Given the description of an element on the screen output the (x, y) to click on. 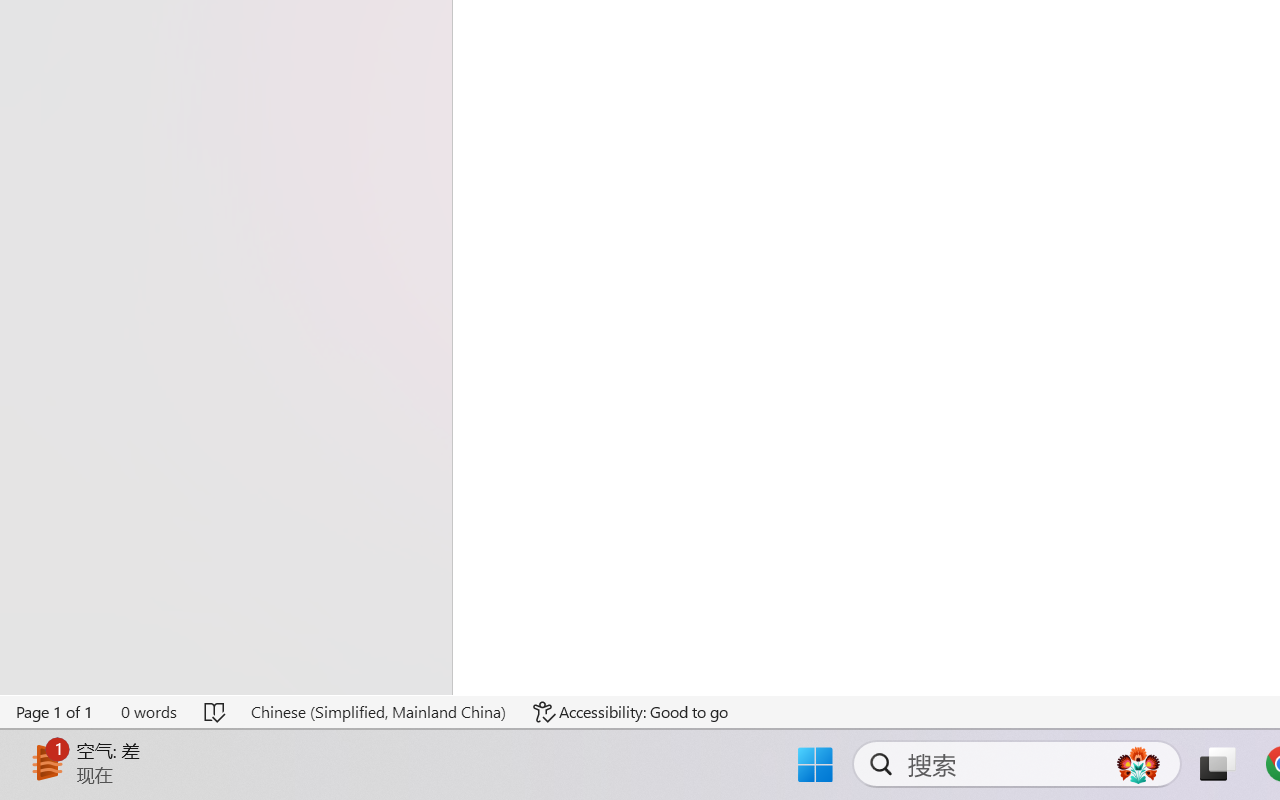
Language Chinese (Simplified, Mainland China) (378, 712)
